Given the description of an element on the screen output the (x, y) to click on. 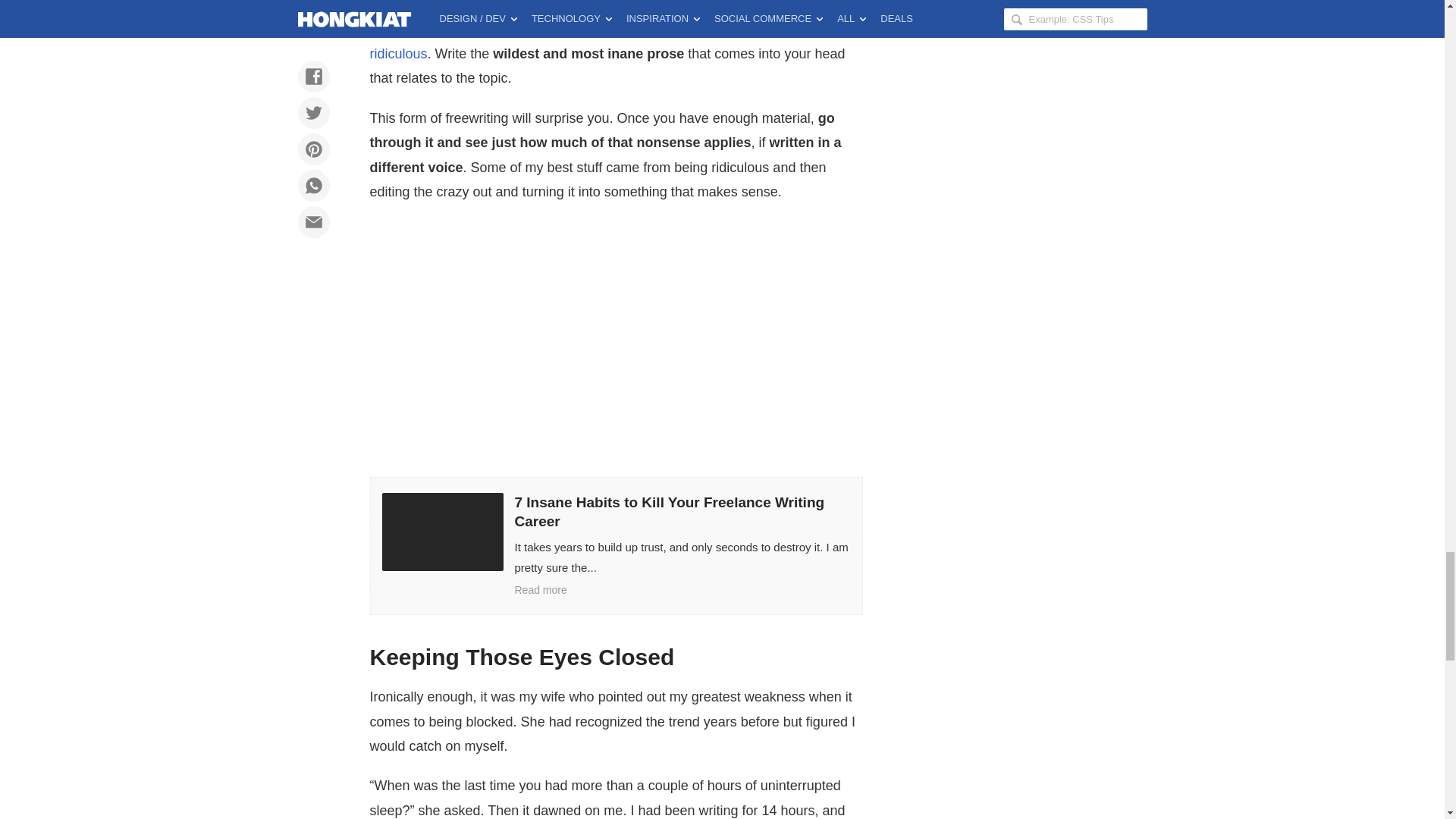
7 Insane Habits to Kill Your Freelance Writing Career (615, 545)
get ridiculous (604, 41)
